Given the description of an element on the screen output the (x, y) to click on. 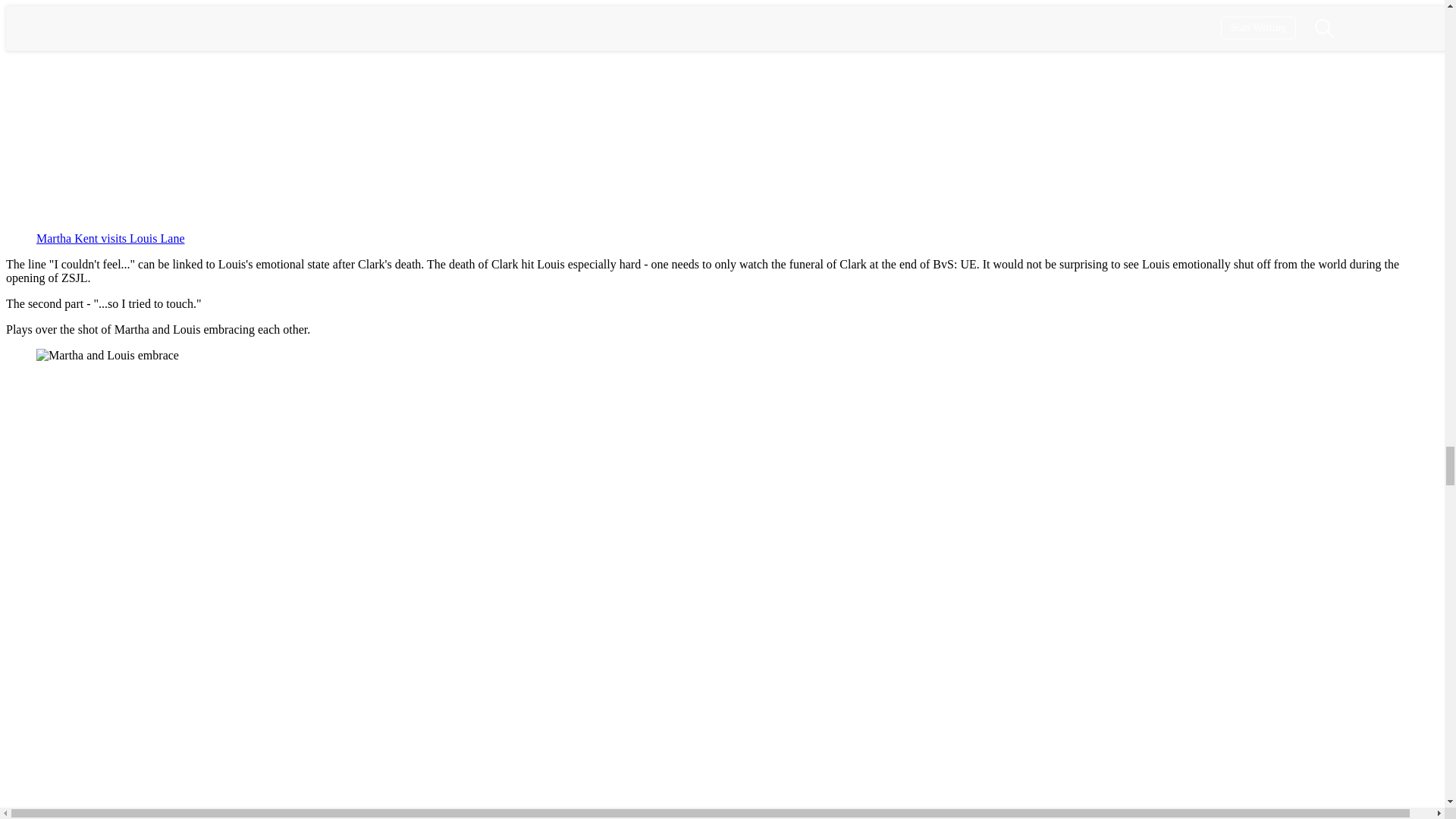
Martha Kent visits Louis Lane (110, 237)
